Given the description of an element on the screen output the (x, y) to click on. 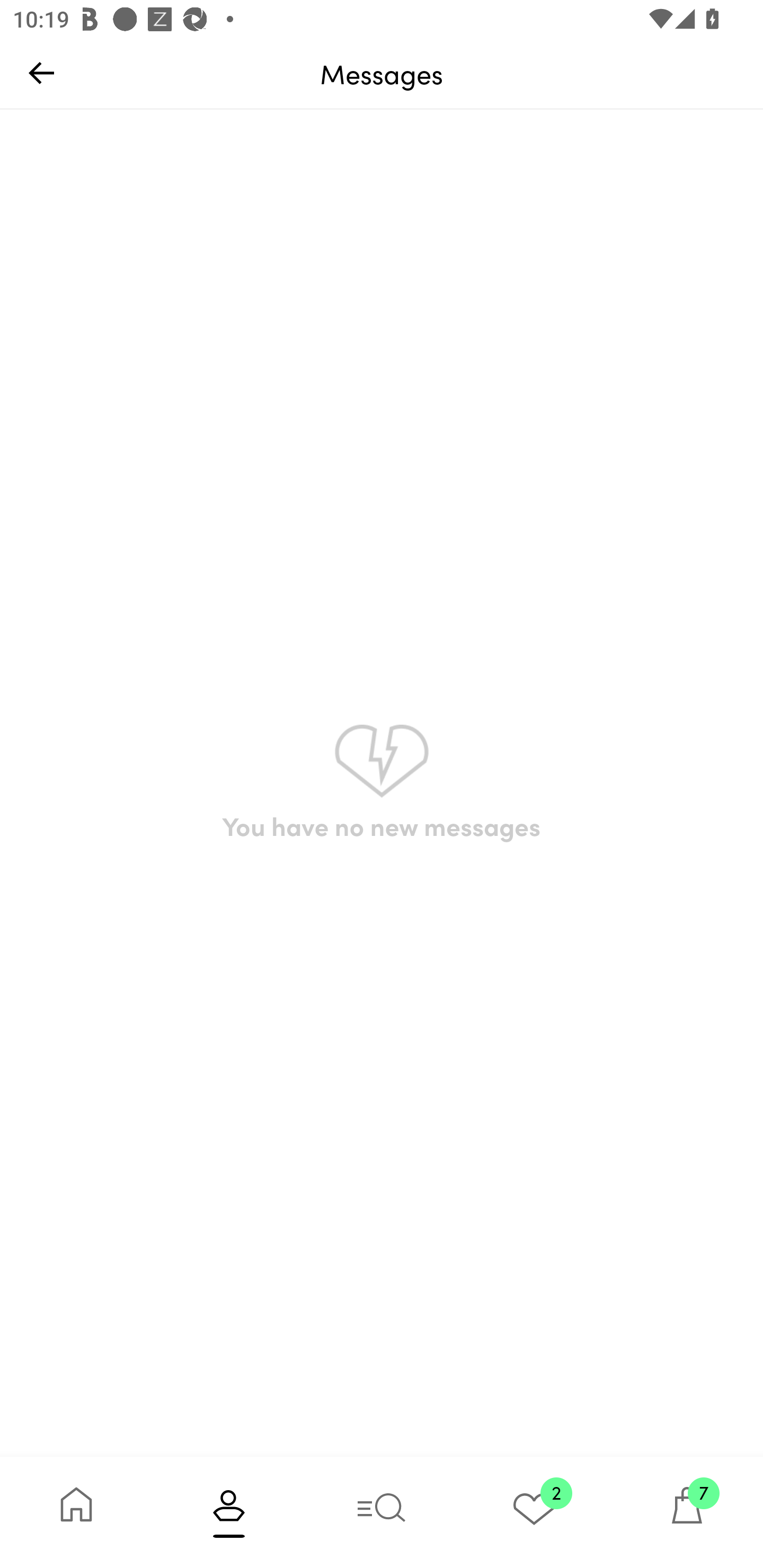
2 (533, 1512)
7 (686, 1512)
